Given the description of an element on the screen output the (x, y) to click on. 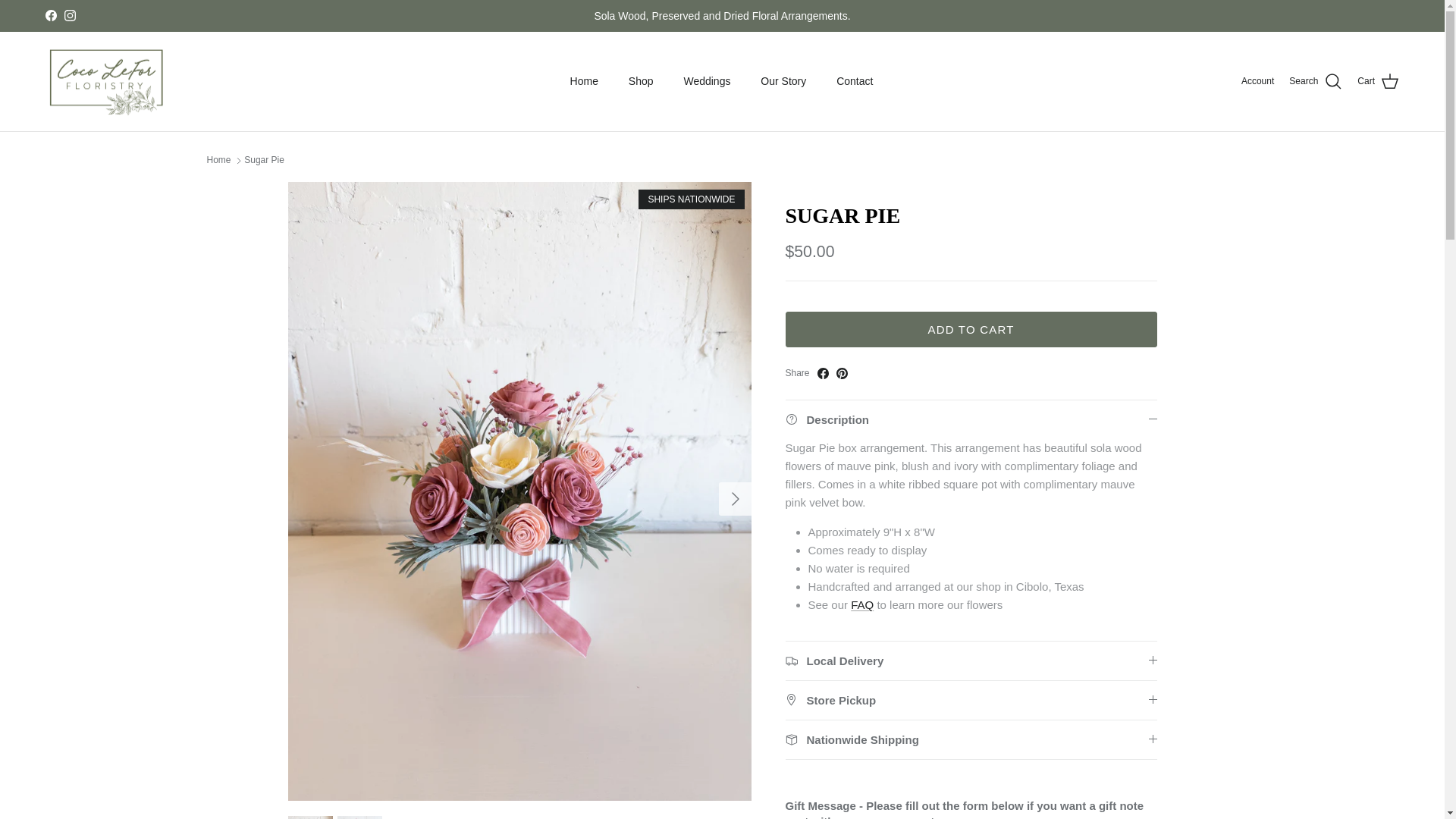
Share on Facebook (822, 373)
Our Story (782, 81)
Cart (1377, 81)
Coco LeFor on Instagram (69, 15)
Coco LeFor on Facebook (50, 15)
Search (1315, 81)
Weddings (706, 81)
Contact (854, 81)
Coco LeFor (106, 81)
Sugar Pie (263, 159)
Account (1257, 81)
Facebook (50, 15)
Instagram (69, 15)
Pin on Pinterest (841, 373)
Home (583, 81)
